Given the description of an element on the screen output the (x, y) to click on. 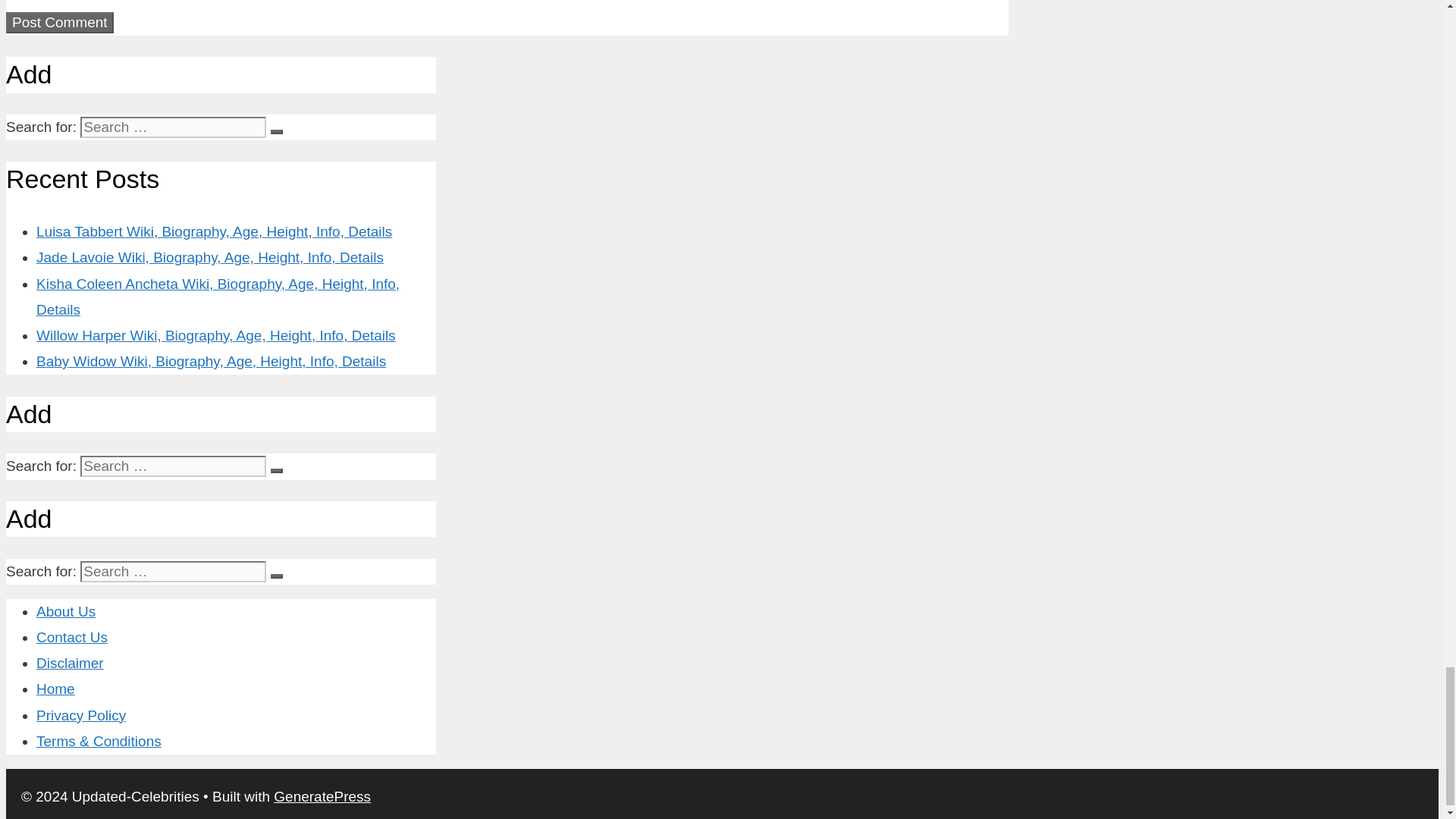
Search for: (173, 127)
Post Comment (59, 22)
About Us (66, 611)
Search for: (173, 465)
Baby Widow Wiki, Biography, Age, Height, Info, Details (210, 360)
Willow Harper Wiki, Biography, Age, Height, Info, Details (216, 335)
Luisa Tabbert Wiki, Biography, Age, Height, Info, Details (213, 231)
Jade Lavoie Wiki, Biography, Age, Height, Info, Details (210, 257)
Post Comment (59, 22)
Search for: (173, 571)
